Given the description of an element on the screen output the (x, y) to click on. 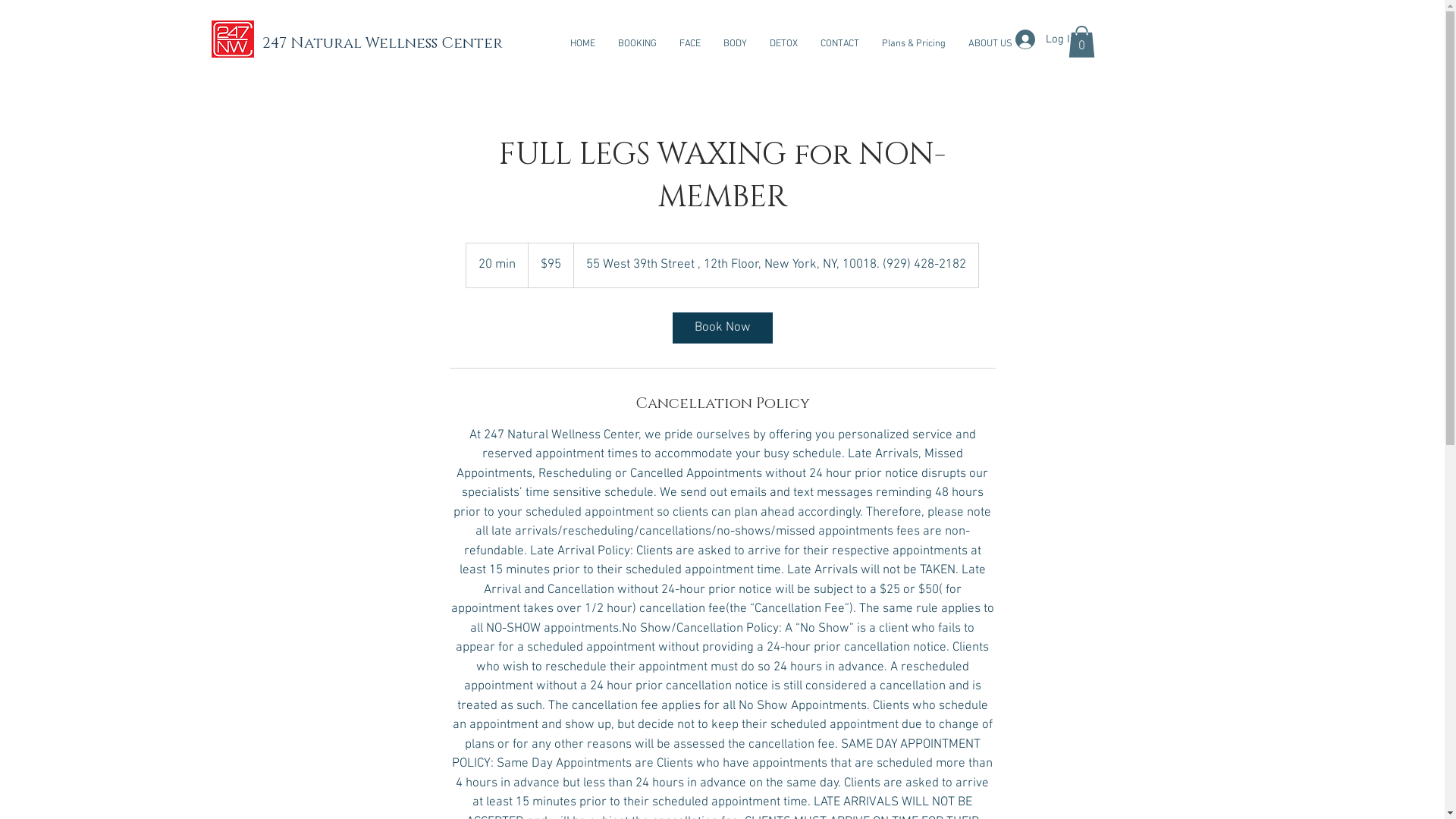
CONTACT Element type: text (838, 43)
Book Now Element type: text (721, 327)
0 Element type: text (1080, 41)
HOME Element type: text (581, 43)
ABOUT US Element type: text (990, 43)
247 Natural Wellness Center Element type: text (382, 43)
Plans & Pricing Element type: text (913, 43)
Log In Element type: text (1044, 39)
BOOKING Element type: text (637, 43)
